Given the description of an element on the screen output the (x, y) to click on. 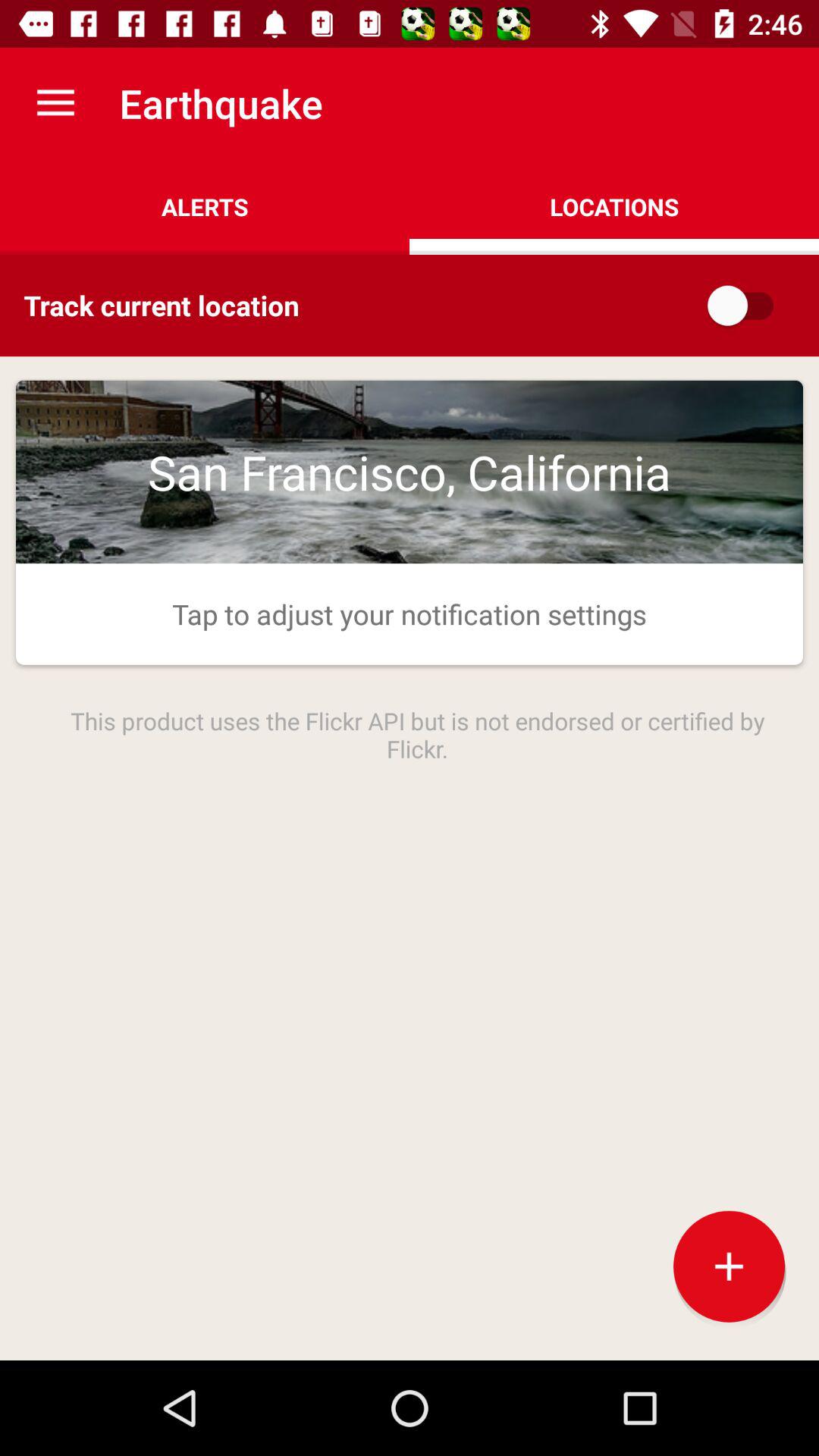
turn on the icon to the right of the alerts item (614, 206)
